Given the description of an element on the screen output the (x, y) to click on. 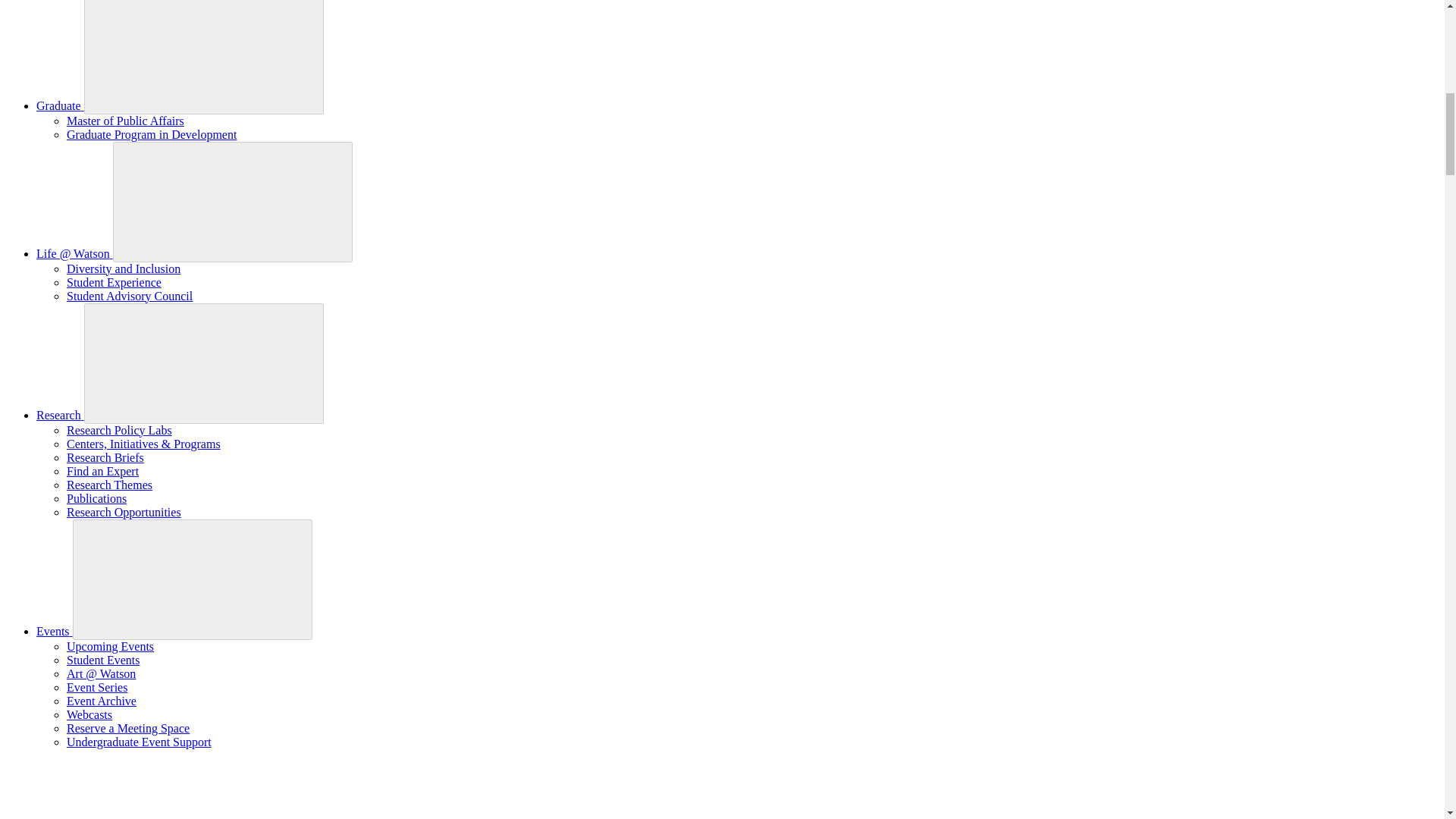
Find an Expert (102, 471)
Research Briefs (105, 457)
Publications (96, 498)
Graduate Program in Development (150, 133)
Research Policy Labs (118, 430)
Research Opportunities (123, 512)
Research Themes (109, 484)
Student Advisory Council (129, 295)
Graduate (60, 105)
Diversity and Inclusion (123, 268)
Student Experience (113, 282)
Research (60, 414)
Master of Public Affairs (125, 120)
